Given the description of an element on the screen output the (x, y) to click on. 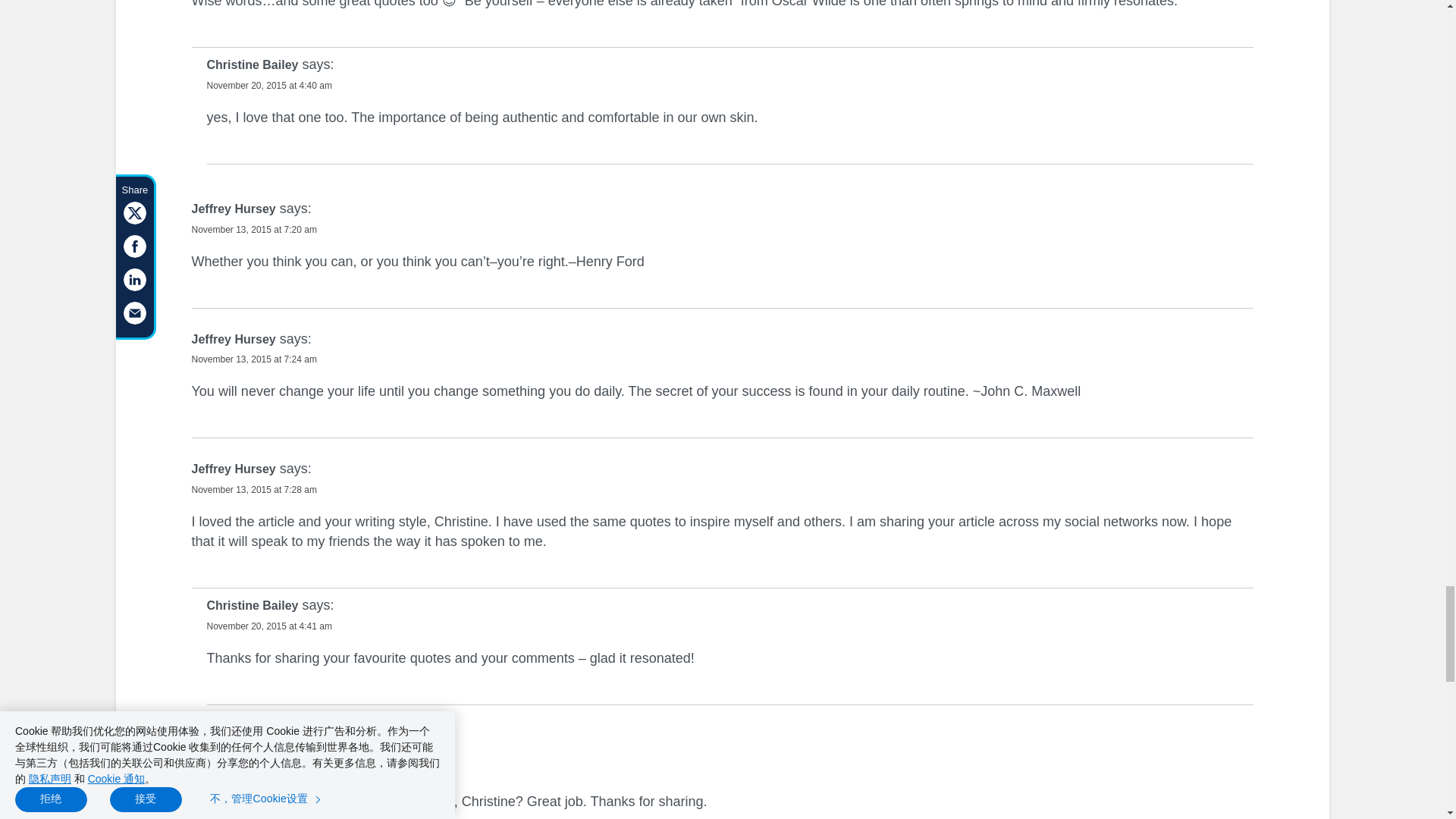
November 13, 2015 at 7:20 am (252, 229)
November 13, 2015 at 7:24 am (252, 358)
November 20, 2015 at 4:40 am (268, 85)
November 13, 2015 at 7:28 am (252, 489)
November 20, 2015 at 4:41 am (268, 625)
